Given the description of an element on the screen output the (x, y) to click on. 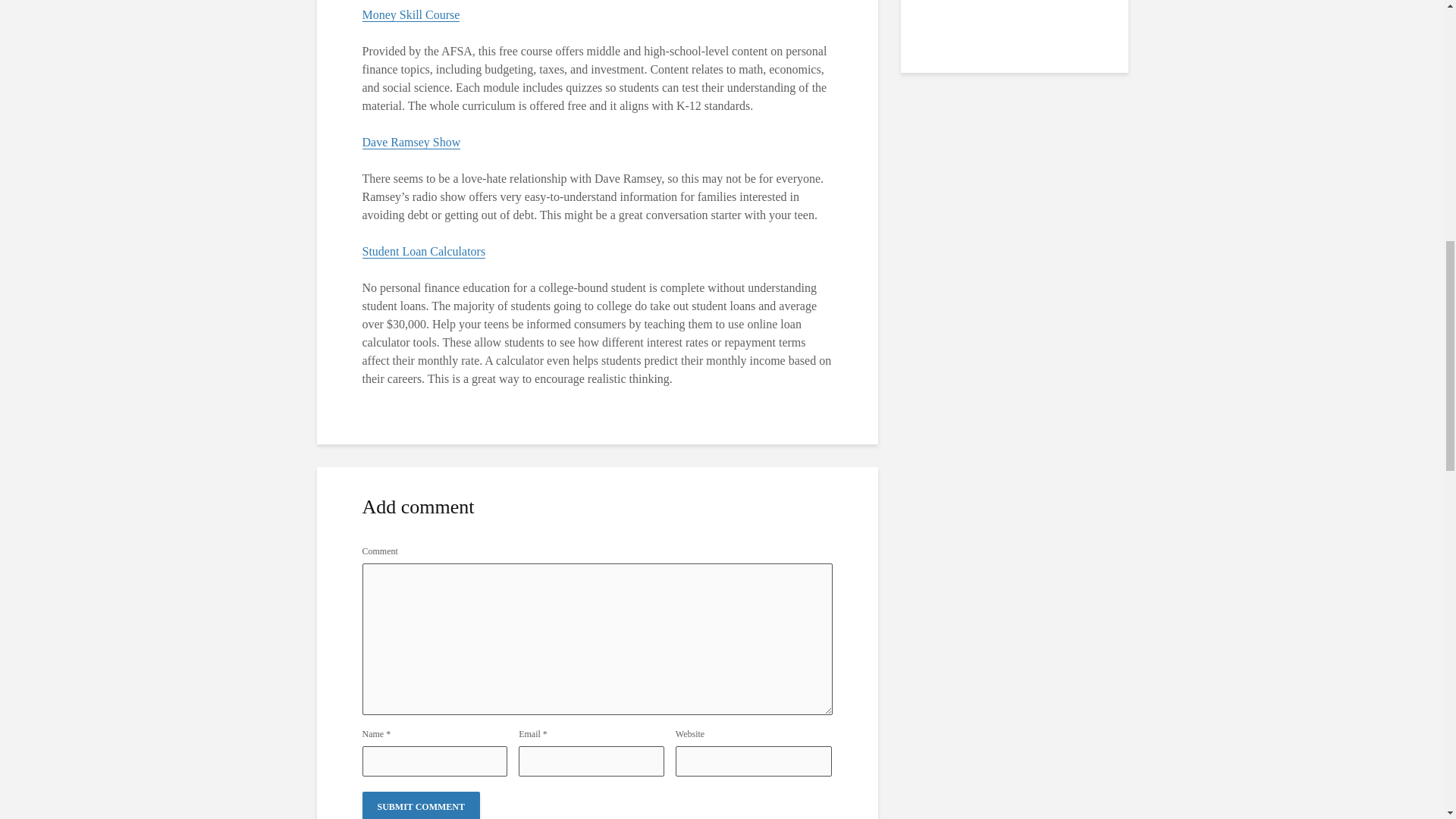
College Student Loan Calculators (424, 251)
Submit Comment (421, 805)
Dave Ramsey Show (411, 142)
